Given the description of an element on the screen output the (x, y) to click on. 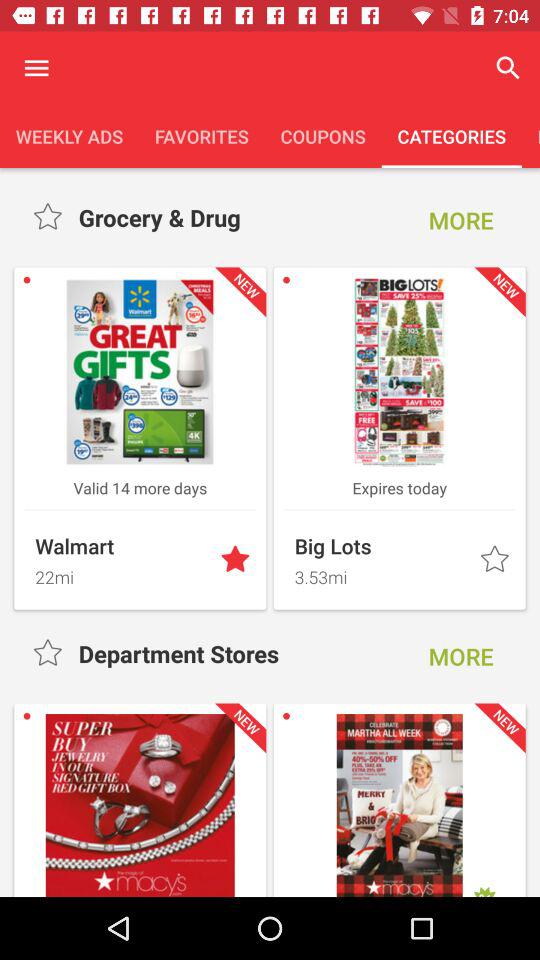
launch the item below big lots item (381, 574)
